Given the description of an element on the screen output the (x, y) to click on. 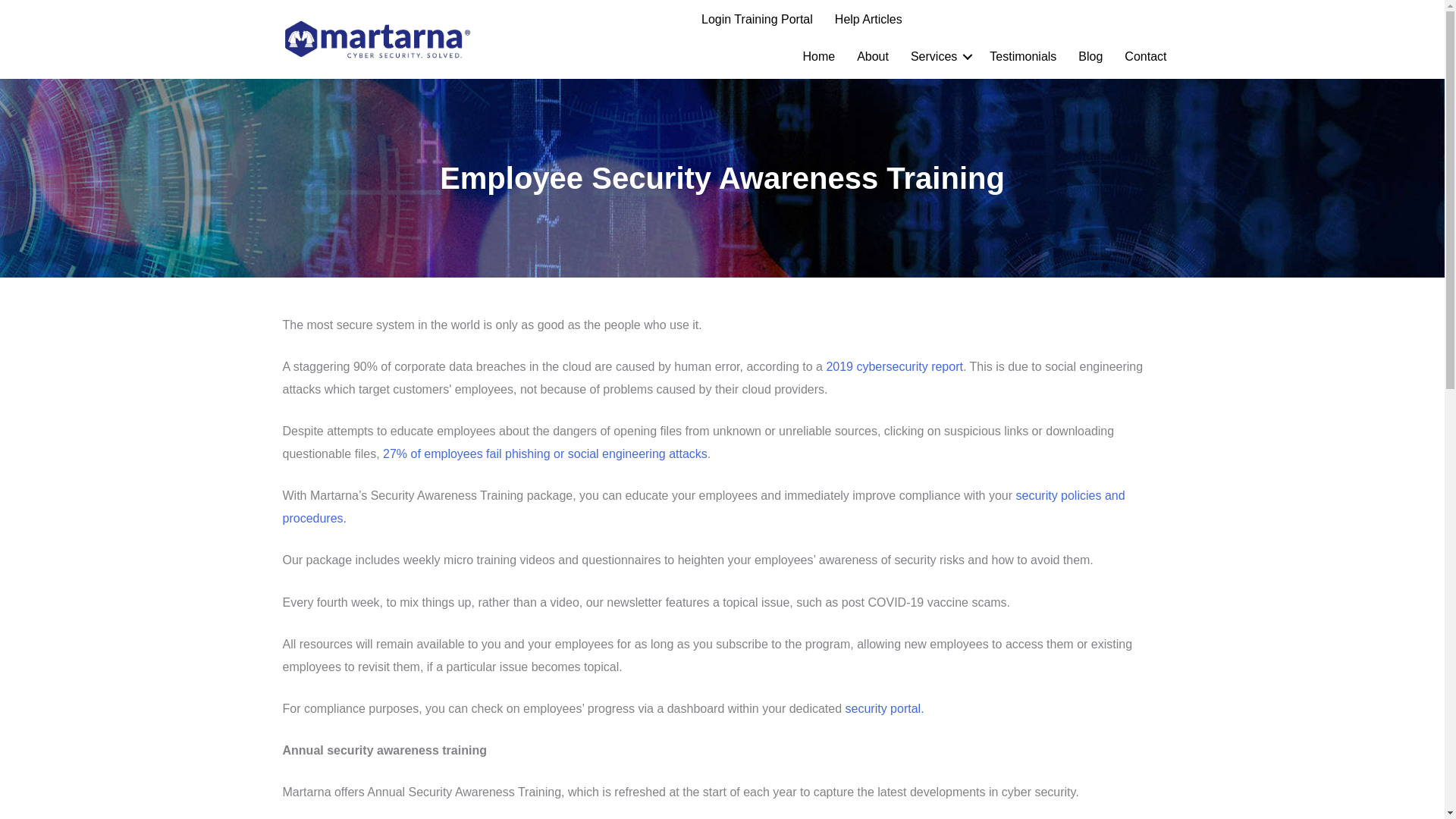
security portal. (884, 707)
new-logo (376, 38)
Blog (1090, 56)
security policies and procedures. (703, 506)
2019 cybersecurity report (893, 366)
Services (938, 56)
Home (818, 56)
Contact (1144, 56)
Help Articles (868, 19)
About (872, 56)
